Given the description of an element on the screen output the (x, y) to click on. 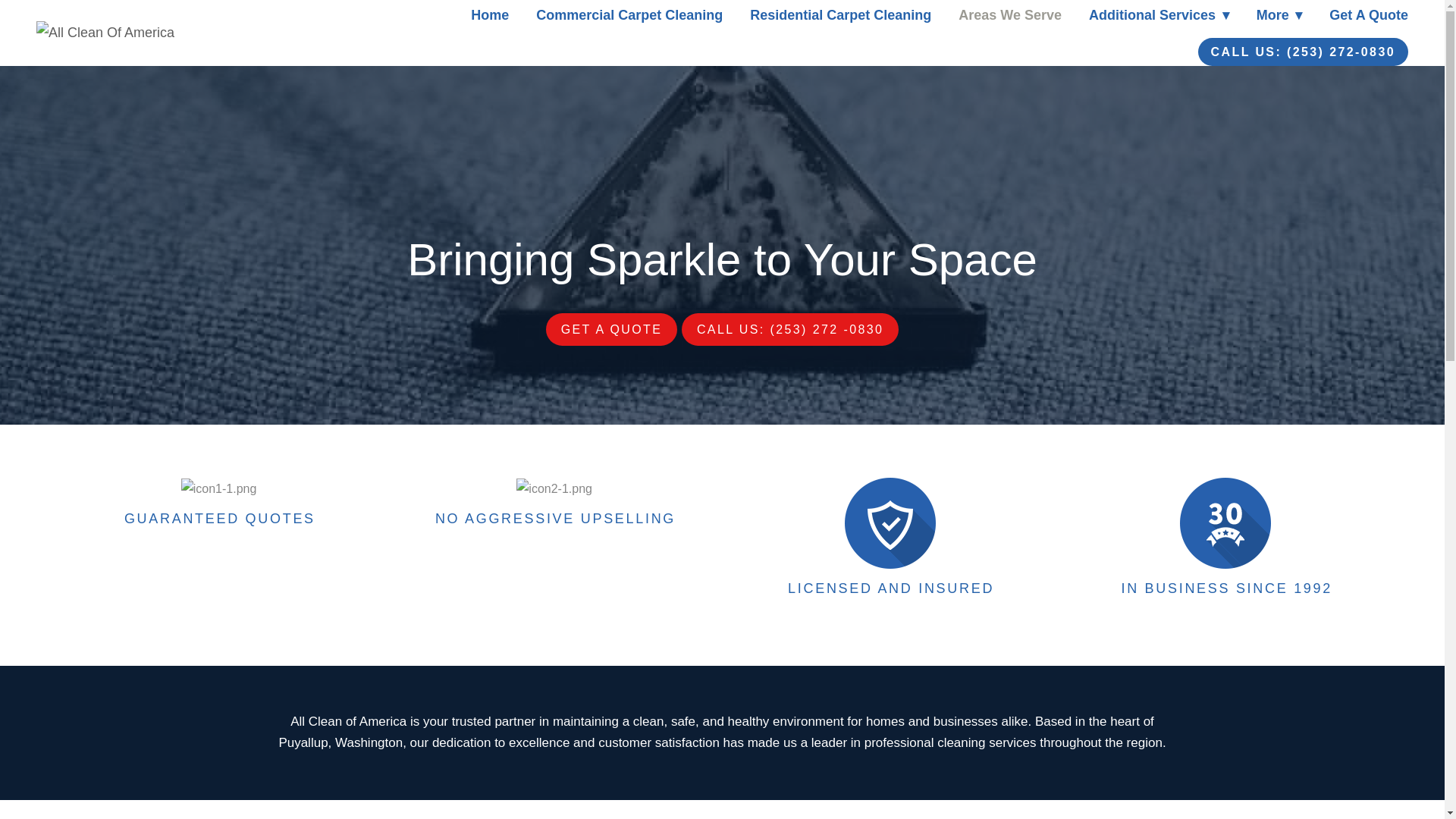
Areas We Serve (1009, 15)
GET A QUOTE (612, 328)
Commercial Carpet Cleaning (628, 15)
Get A Quote (1368, 15)
All Clean Of  America (145, 33)
Home (489, 15)
Residential Carpet Cleaning (840, 15)
